Given the description of an element on the screen output the (x, y) to click on. 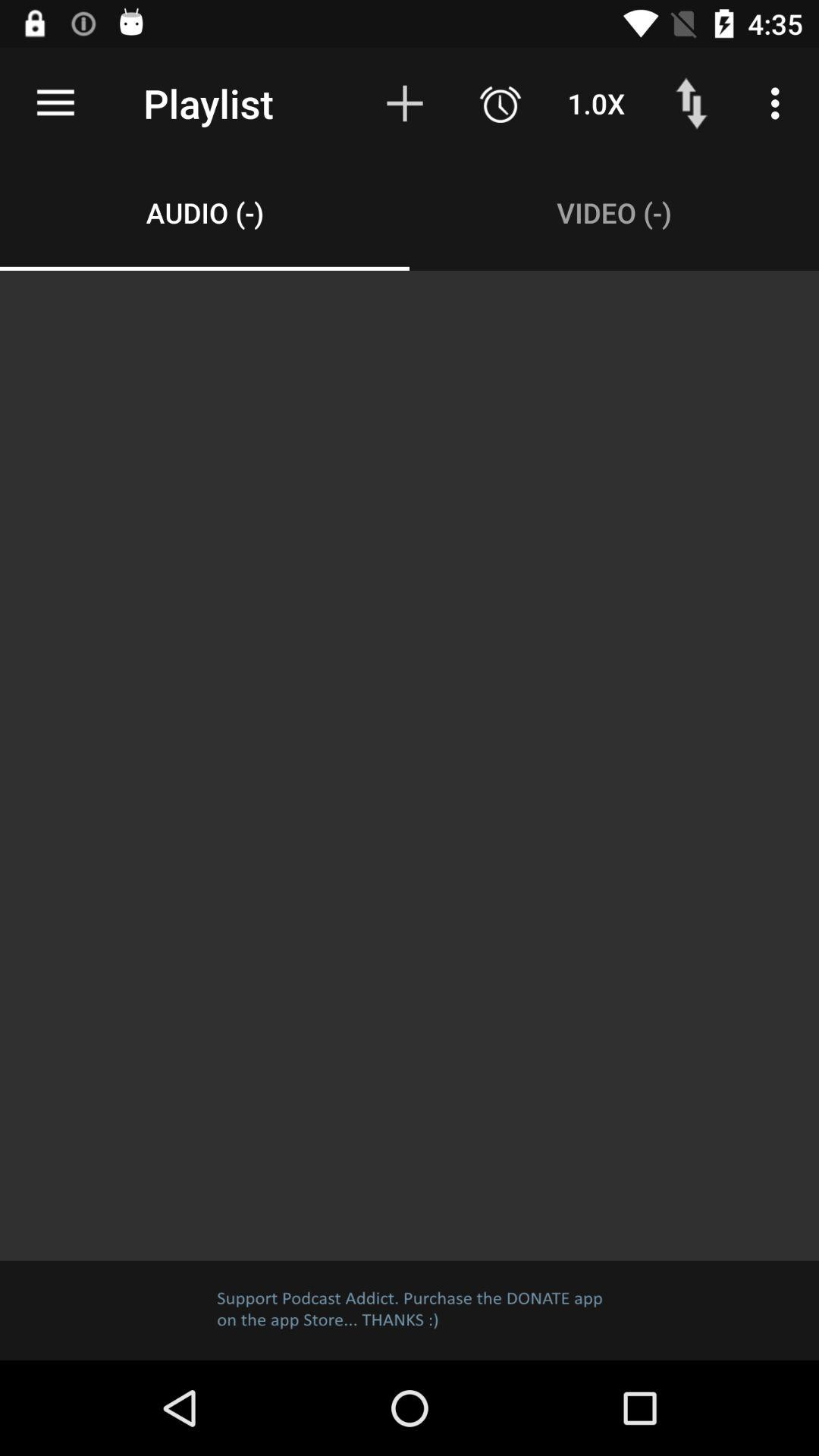
open icon to the right of the audio (-) item (614, 212)
